Given the description of an element on the screen output the (x, y) to click on. 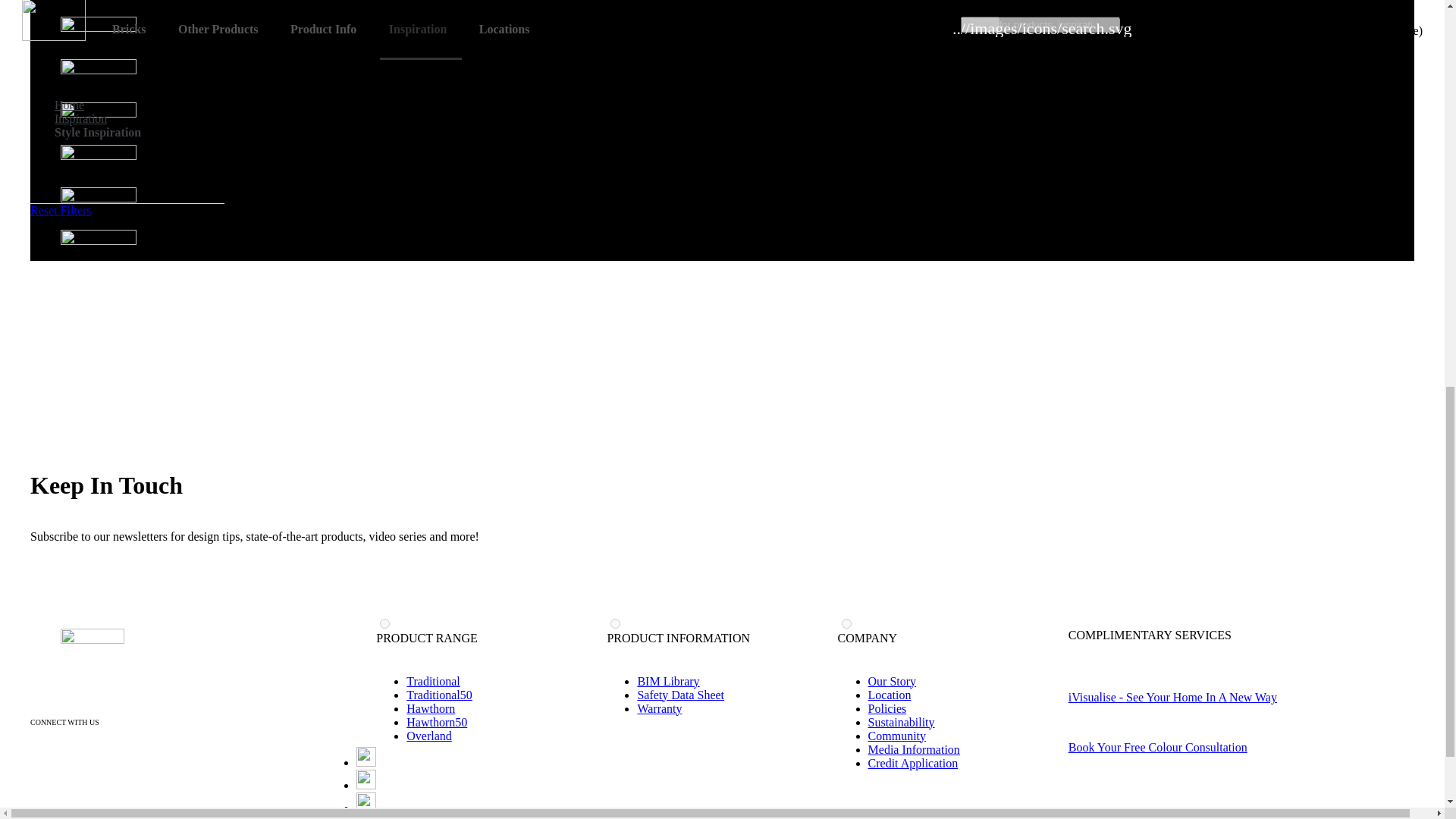
on (846, 623)
Bricks (131, 29)
on (385, 623)
on (615, 623)
